Given the description of an element on the screen output the (x, y) to click on. 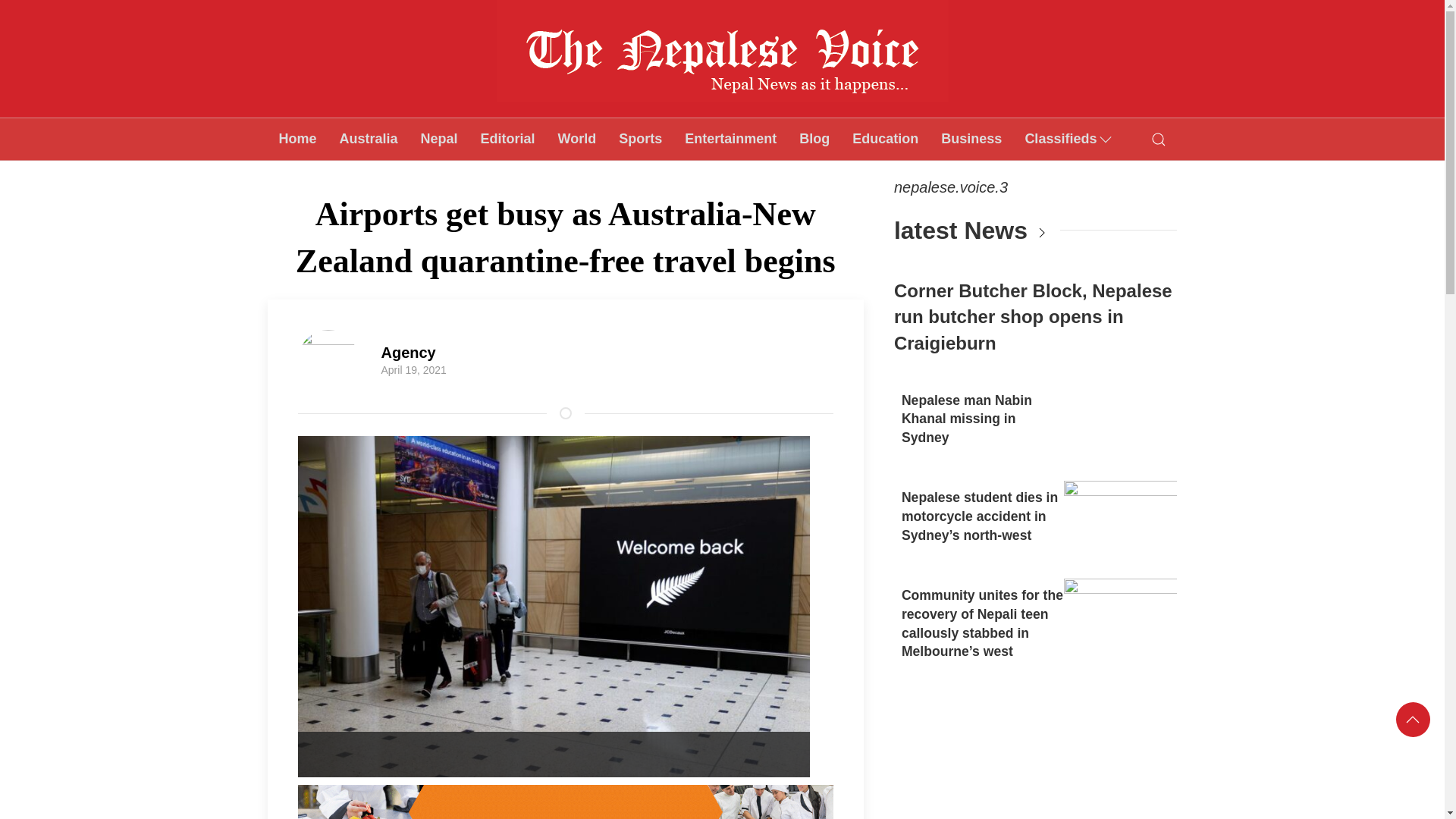
Sports (639, 138)
nepalese.voice.3 (950, 187)
Business (971, 138)
Education (885, 138)
latest News (960, 230)
Blog (814, 138)
Agency (407, 352)
World (577, 138)
Home (296, 138)
Australia (369, 138)
Nepal (438, 138)
Entertainment (729, 138)
Classifieds (1069, 138)
Editorial (507, 138)
